Given the description of an element on the screen output the (x, y) to click on. 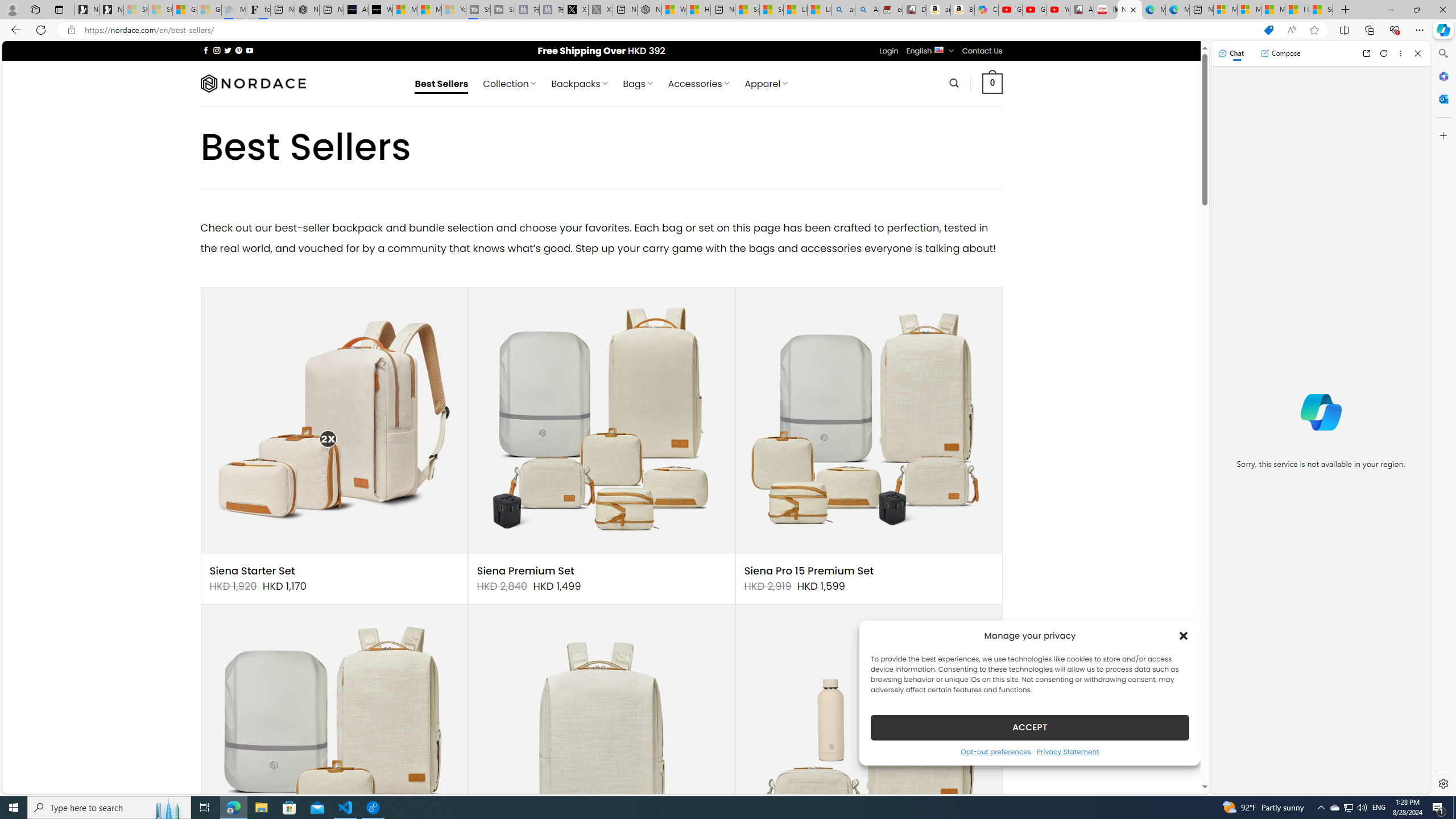
Side bar (1443, 418)
Nordace - My Account (648, 9)
